Given the description of an element on the screen output the (x, y) to click on. 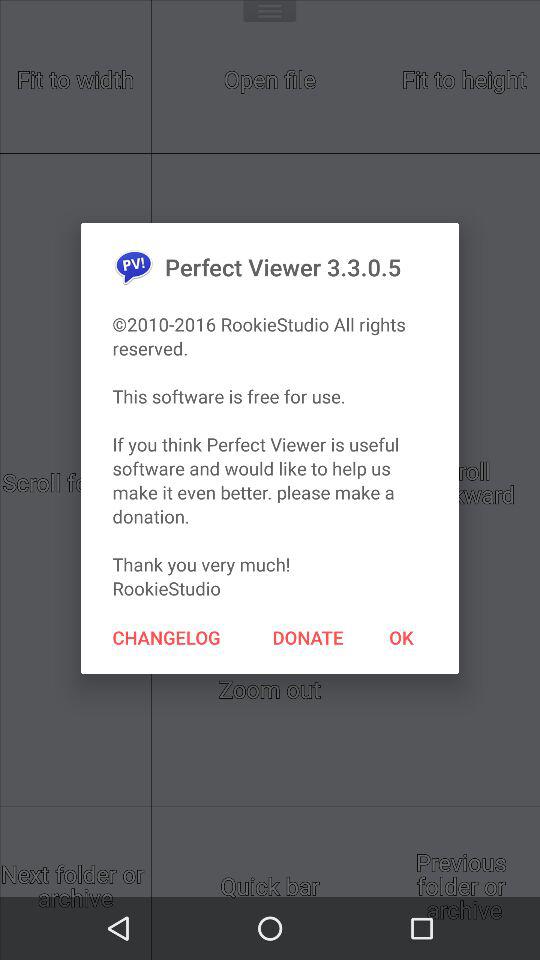
launch icon to the right of the changelog item (307, 637)
